Given the description of an element on the screen output the (x, y) to click on. 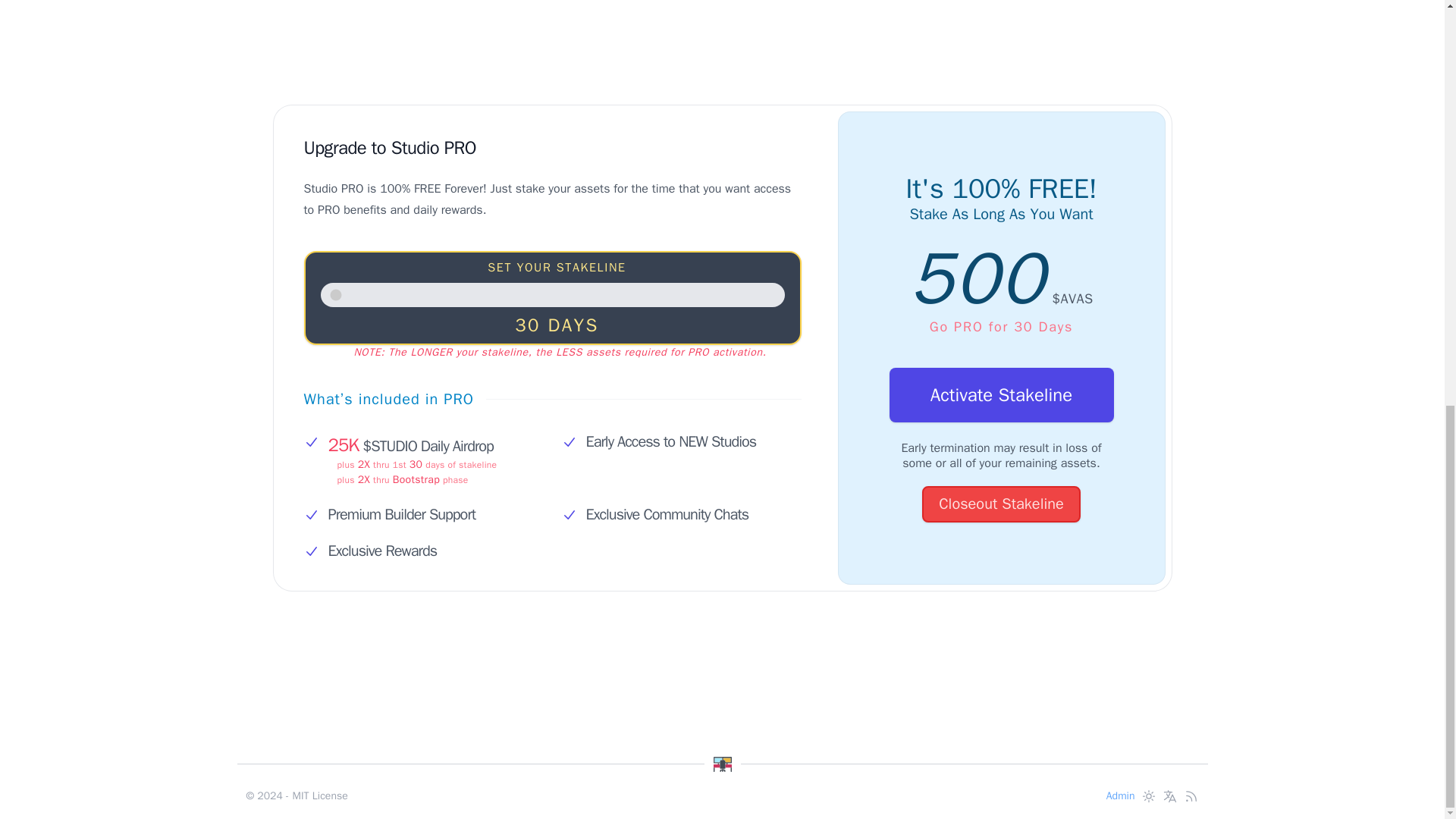
0 (552, 294)
Closeout Stakeline (1000, 504)
Activate Stakeline (1000, 394)
Admin (1120, 795)
